Given the description of an element on the screen output the (x, y) to click on. 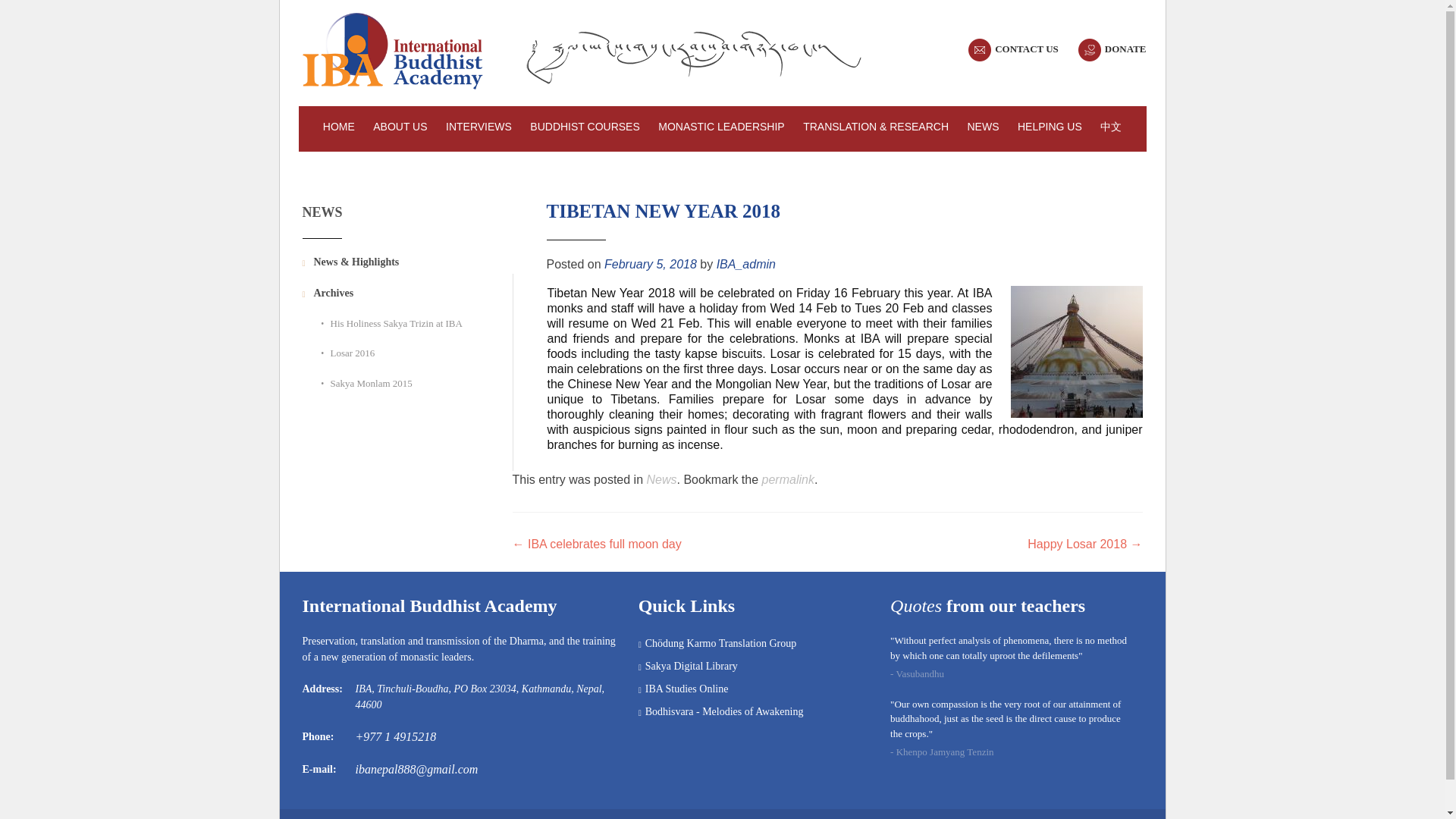
BUDDHIST COURSES (584, 128)
CONTACT US (1026, 48)
INTERVIEWS (478, 128)
ABOUT US (399, 128)
DONATE (1126, 48)
